Given the description of an element on the screen output the (x, y) to click on. 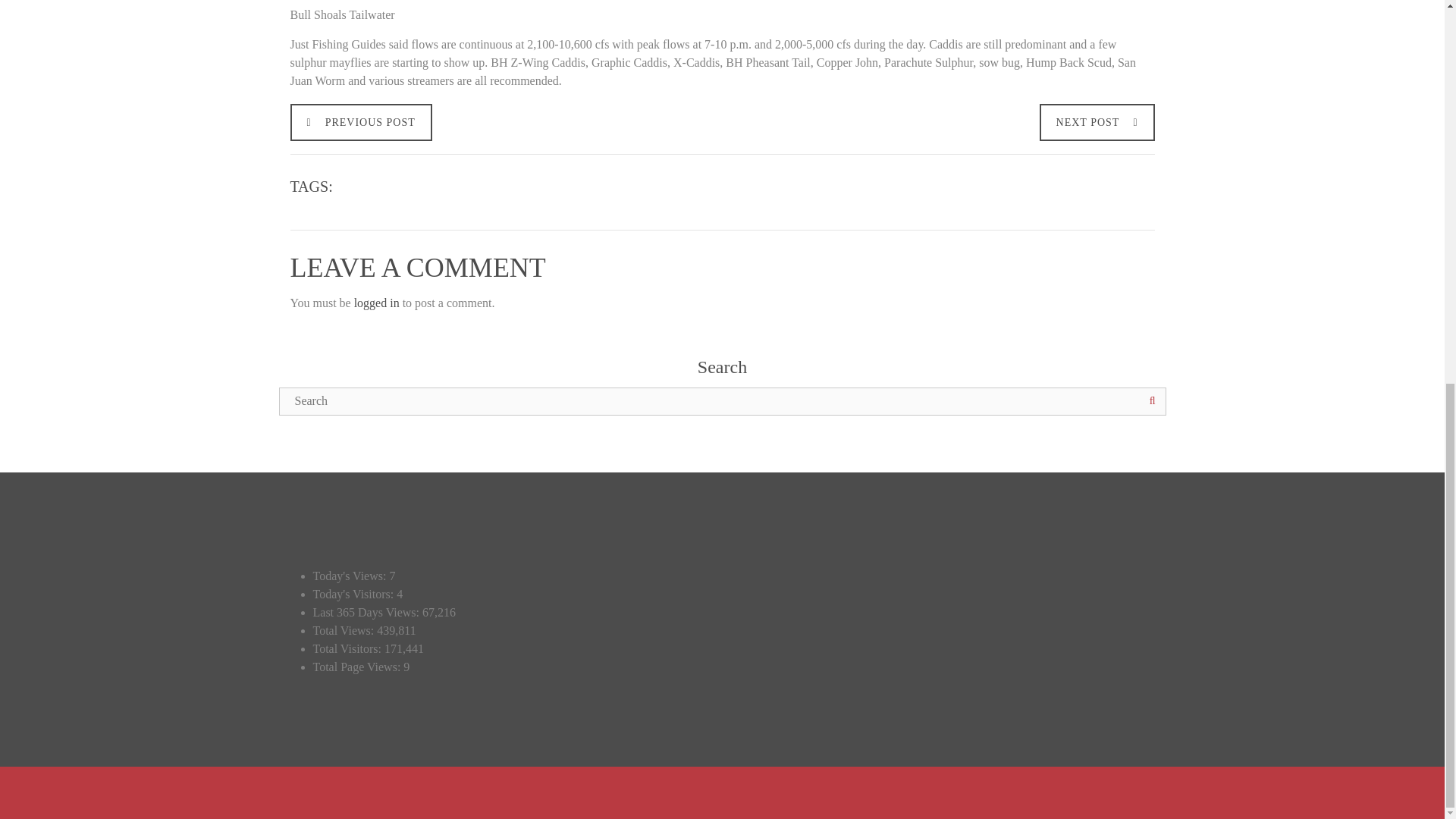
PREVIOUS POST (359, 121)
logged in (375, 302)
NEXT POST (1096, 121)
Search (1150, 401)
Search (1150, 401)
